Given the description of an element on the screen output the (x, y) to click on. 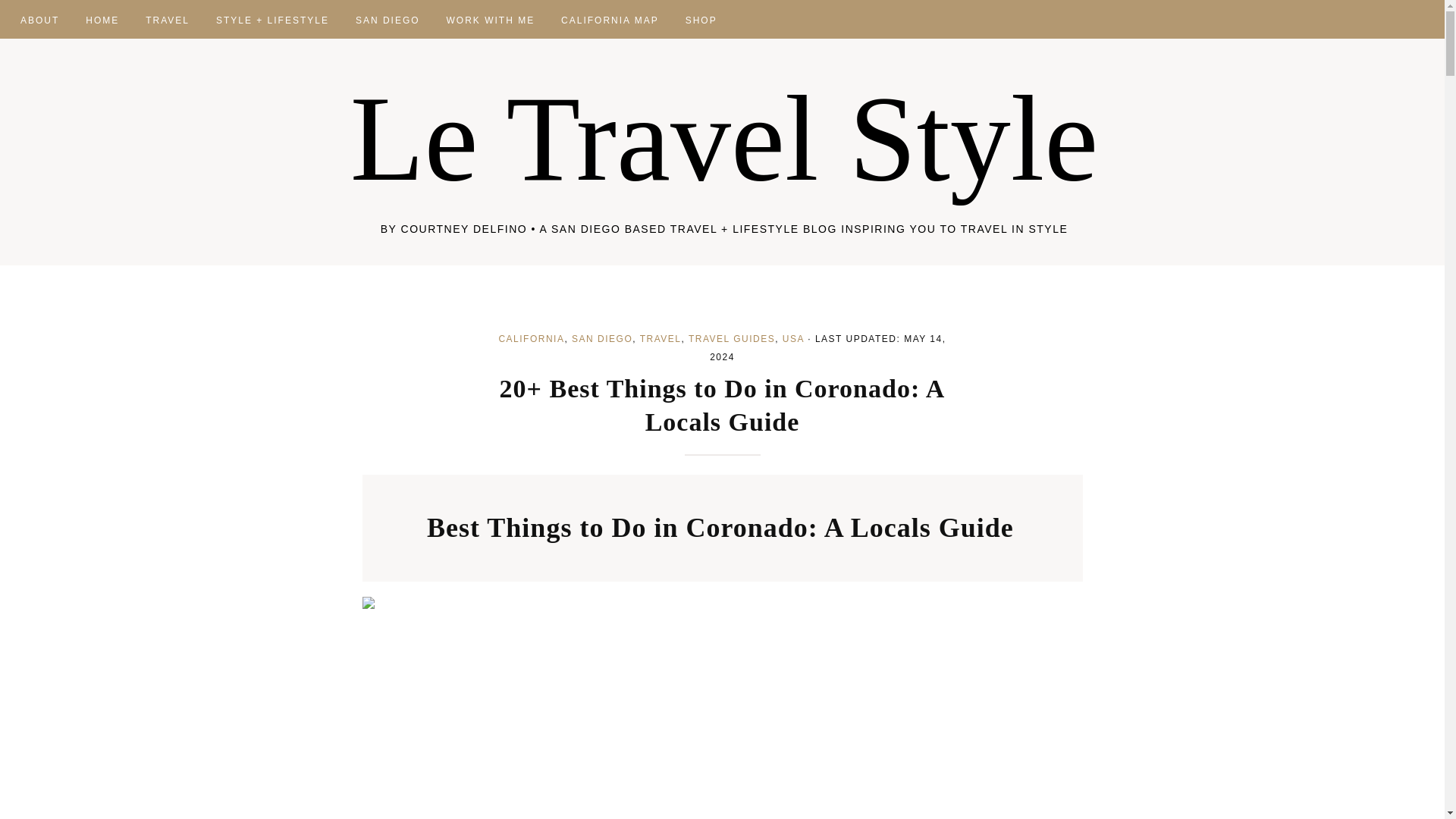
TRAVEL (166, 18)
ABOUT (38, 18)
HOME (102, 18)
